Given the description of an element on the screen output the (x, y) to click on. 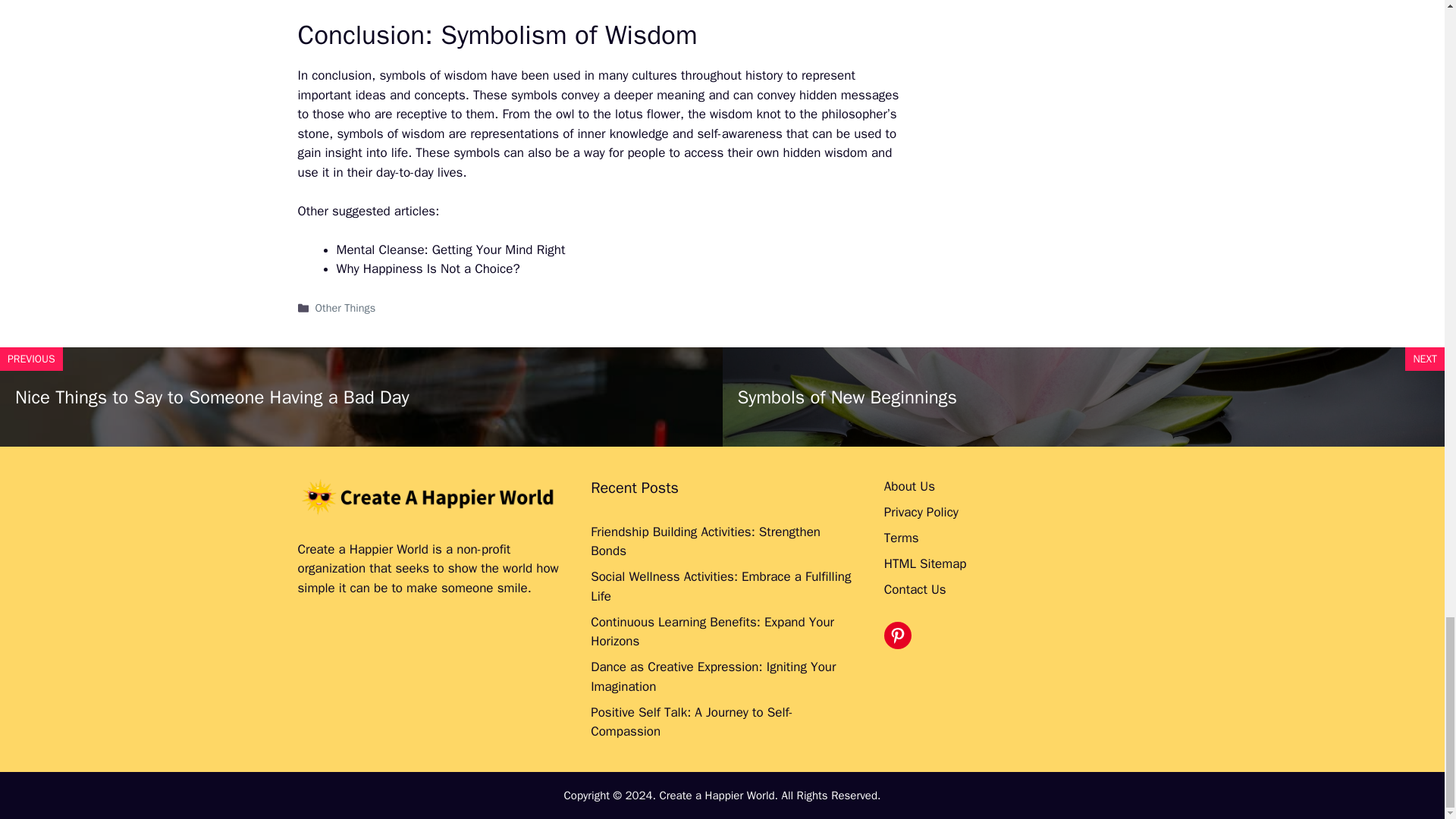
Mental Cleanse: Getting Your Mind Right (451, 249)
Terms (900, 537)
Nice Things to Say to Someone Having a Bad Day (211, 396)
Positive Self Talk: A Journey to Self-Compassion (692, 722)
Pinterest (897, 635)
Contact Us (914, 589)
About Us (908, 486)
Other Things (345, 307)
Privacy Policy (920, 512)
Why Happiness Is Not a Choice? (427, 268)
Social Wellness Activities: Embrace a Fulfilling Life (720, 586)
Friendship Building Activities: Strengthen Bonds (706, 541)
Continuous Learning Benefits: Expand Your Horizons (712, 632)
Dance as Creative Expression: Igniting Your Imagination (713, 676)
HTML Sitemap (924, 563)
